Given the description of an element on the screen output the (x, y) to click on. 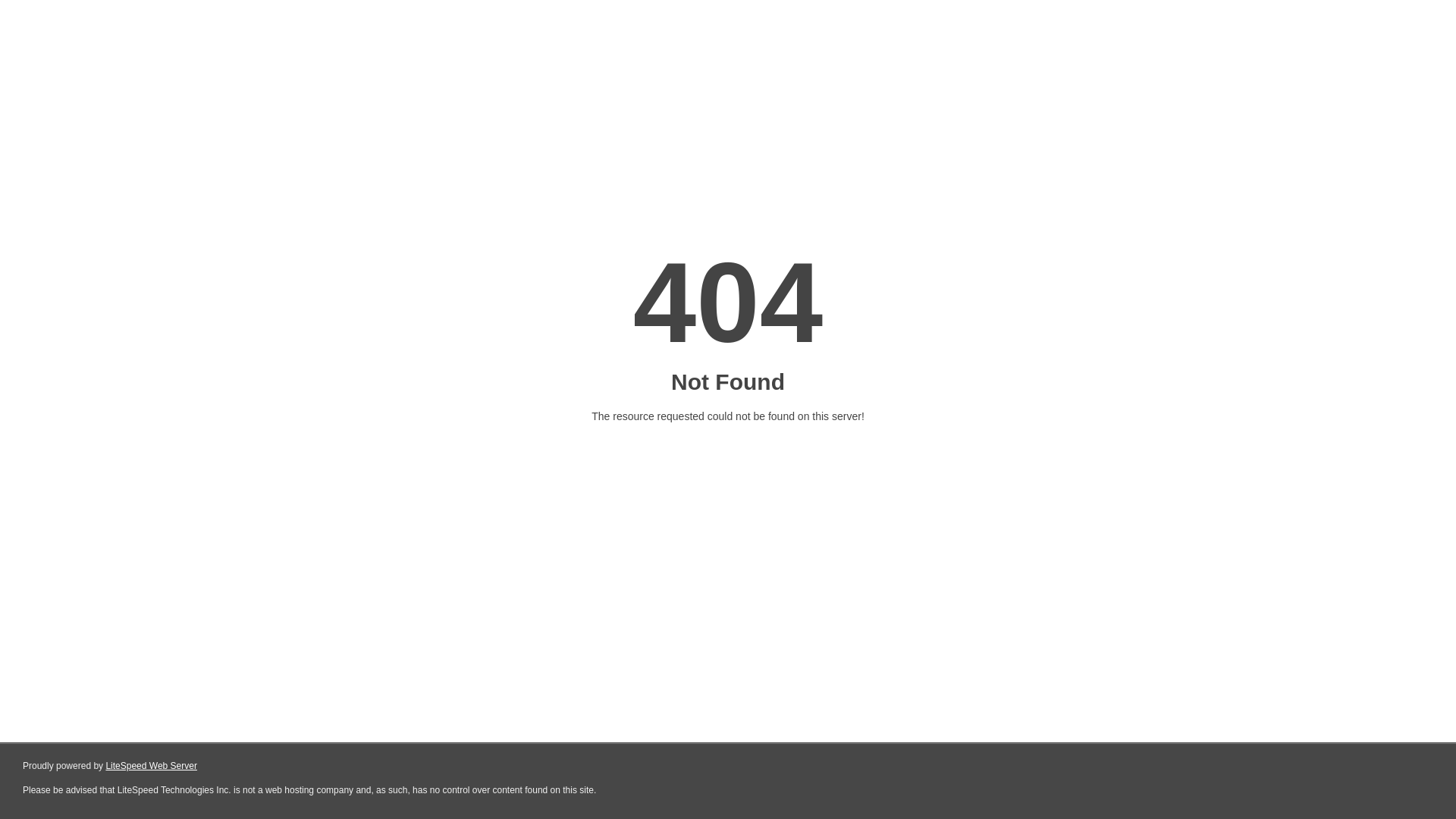
LiteSpeed Web Server Element type: text (151, 765)
